Given the description of an element on the screen output the (x, y) to click on. 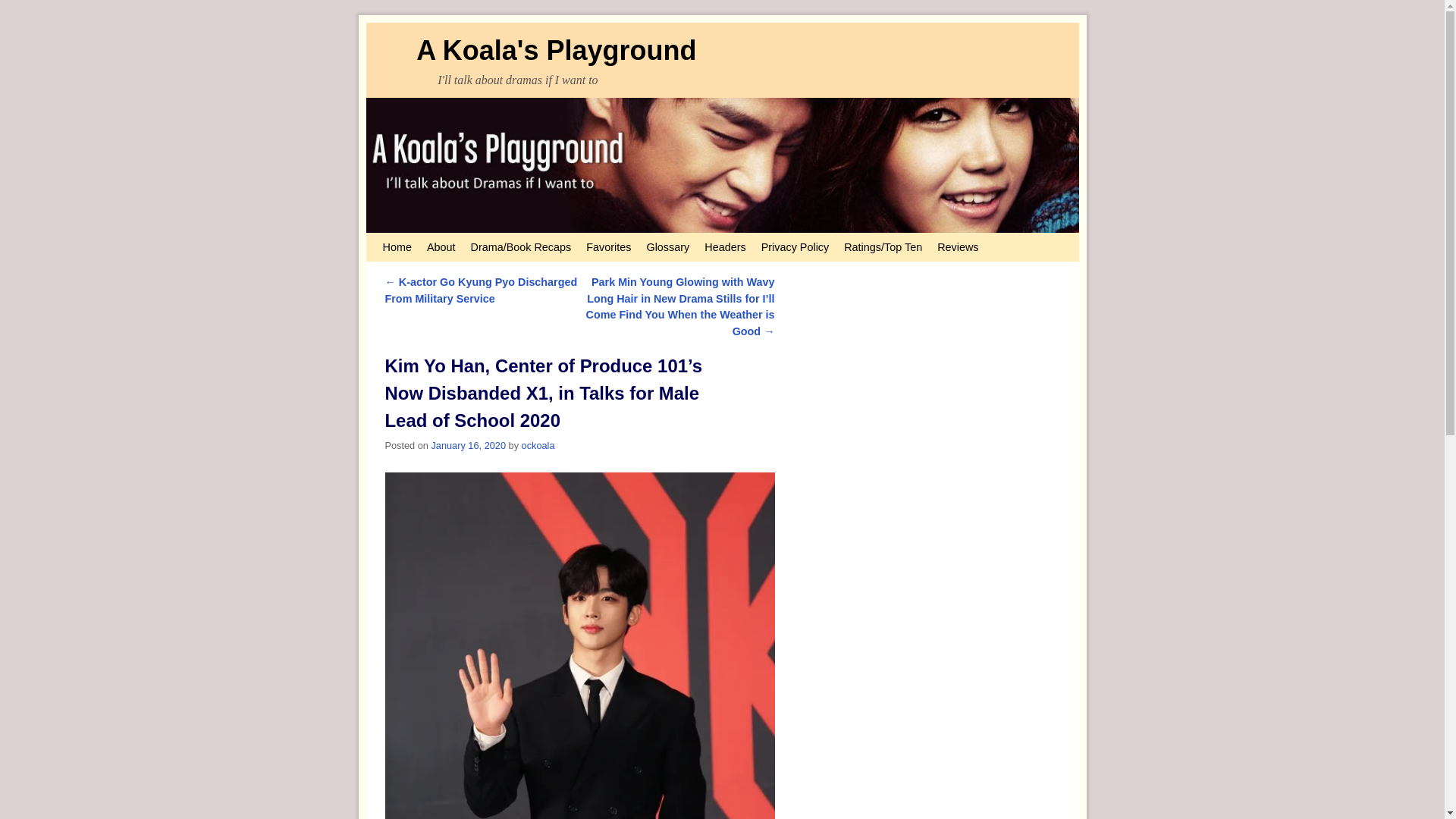
A Koala's Playground (555, 50)
Reviews (957, 246)
Skip to primary content (408, 239)
Skip to secondary content (412, 239)
Headers (724, 246)
Home (396, 246)
About (441, 246)
January 16, 2020 (467, 445)
A Koala's Playground (721, 164)
View all posts by ockoala (537, 445)
